Given the description of an element on the screen output the (x, y) to click on. 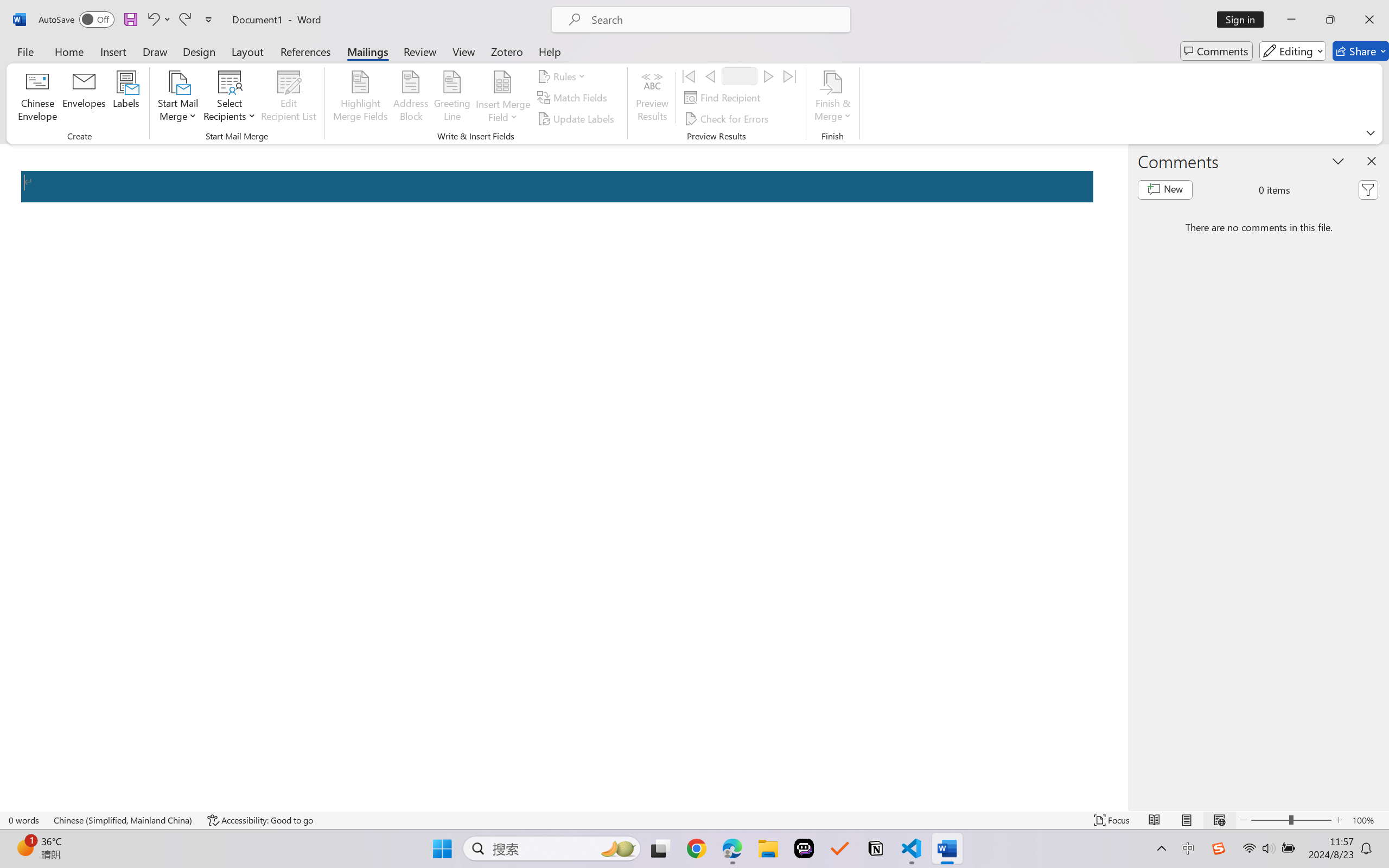
Rules (563, 75)
Check for Errors... (728, 118)
Editing (1292, 50)
Address Block... (410, 97)
